Given the description of an element on the screen output the (x, y) to click on. 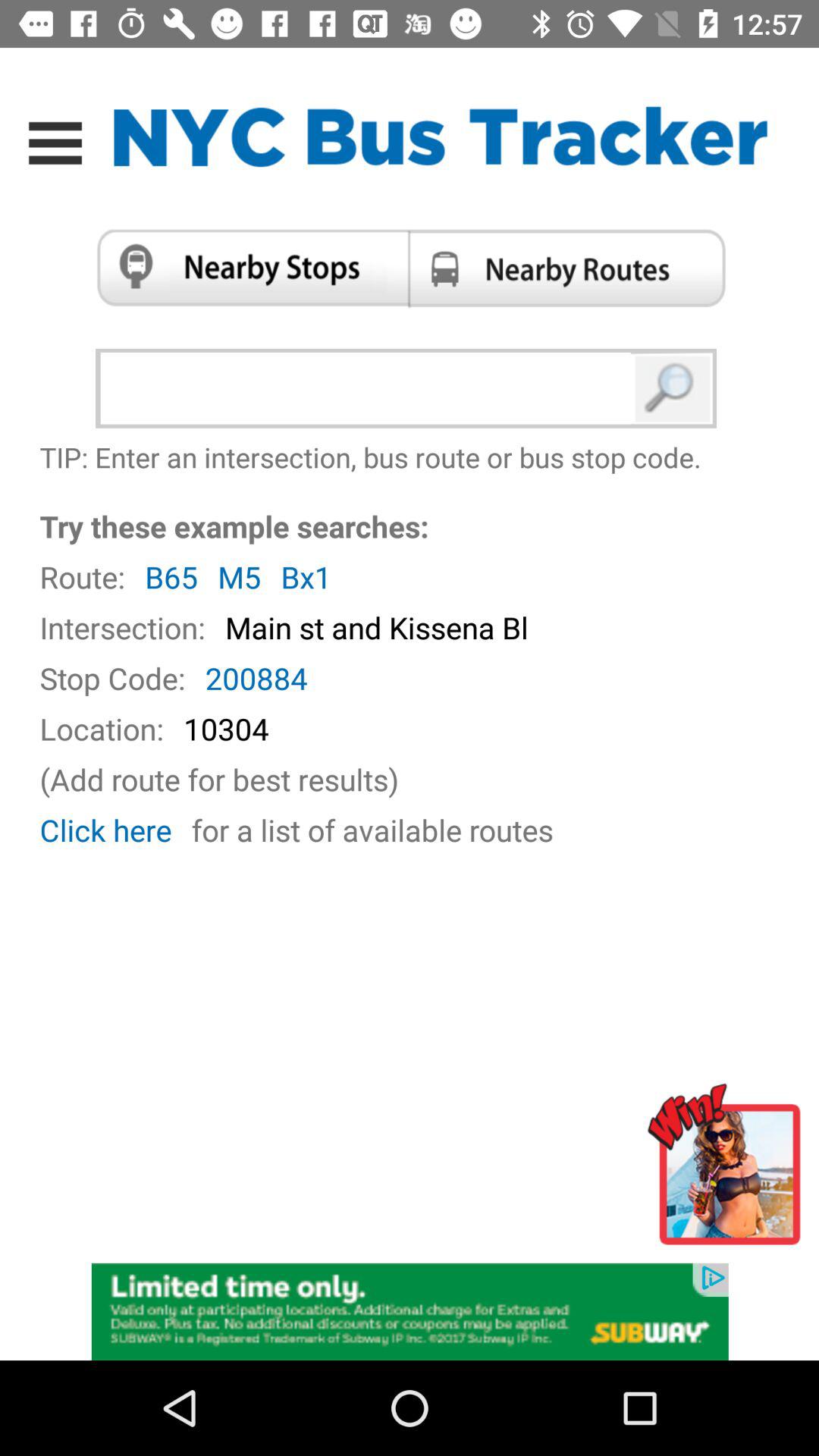
search bar (369, 388)
